Given the description of an element on the screen output the (x, y) to click on. 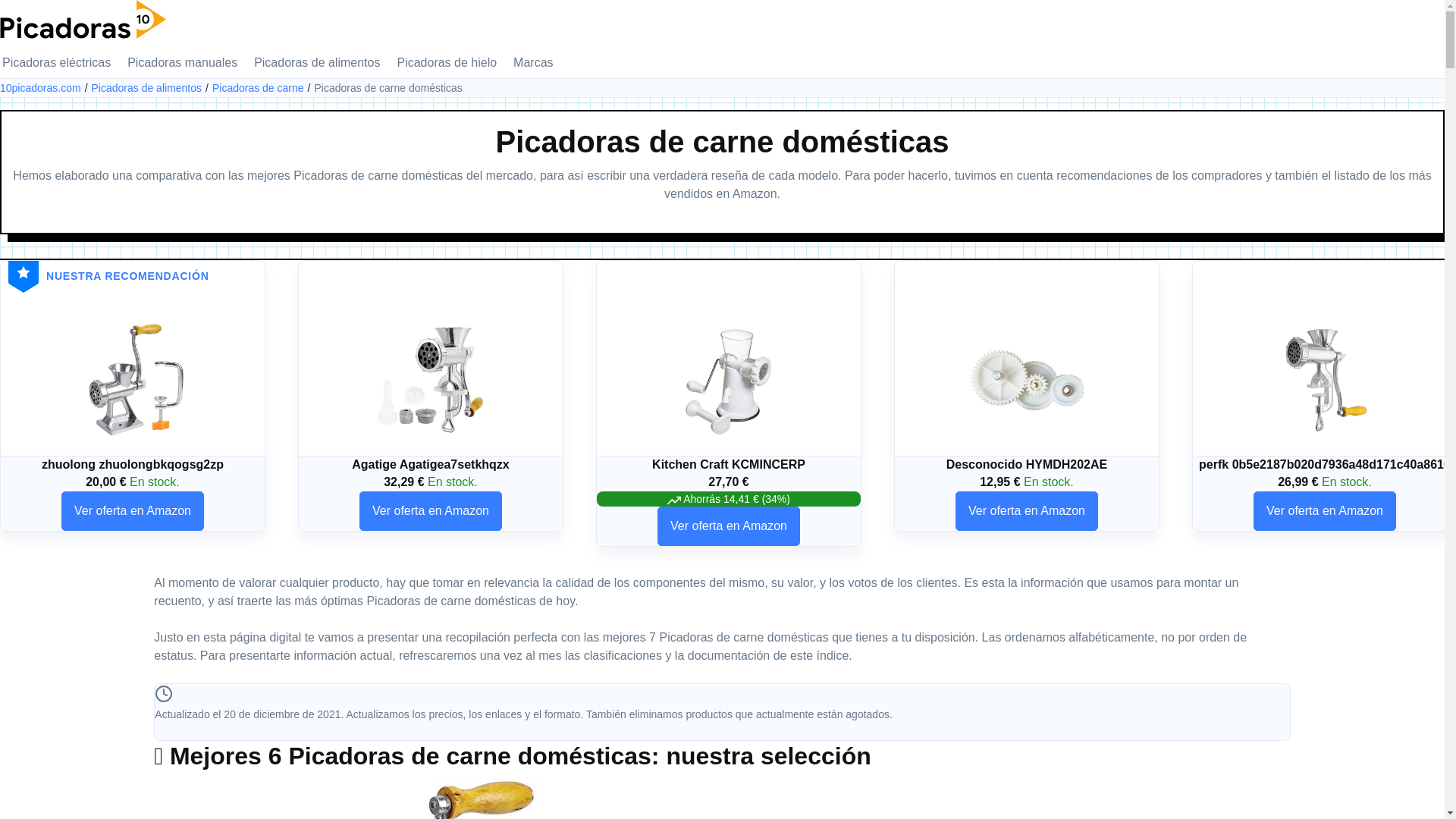
zhuolong zhuolongbkqogsg2zp Element type: text (132, 464)
Kitchen Craft KCMINCERP Element type: hover (728, 379)
Picadoras de hielo Element type: text (446, 62)
Picadoras de alimentos Element type: text (316, 62)
zhuolong zhuolongbkqogsg2zp Element type: hover (132, 379)
Agatige Agatigea7setkhqzx Element type: hover (430, 379)
Picadoras manuales Element type: text (182, 62)
perfk 0b5e2187b020d7936a48d171c40a8610 Element type: hover (1324, 379)
Marcas Element type: text (533, 62)
10picadoras.com Element type: text (45, 87)
Ver oferta en Amazon Element type: text (1324, 510)
zhuolong zhuolongbkqogsg2zp Element type: hover (132, 379)
Agatige Agatigea7setkhqzx Element type: hover (430, 379)
Ver oferta en Amazon Element type: text (132, 510)
Ver oferta en Amazon Element type: text (728, 526)
Agatige Agatigea7setkhqzx Element type: text (430, 464)
Ver oferta en Amazon Element type: text (430, 510)
Picadoras de carne Element type: text (263, 87)
Volver al inicio Element type: hover (83, 18)
Desconocido HYMDH202AE Element type: text (1026, 464)
Picadoras de alimentos Element type: text (151, 87)
Kitchen Craft KCMINCERP Element type: text (728, 464)
Kitchen Craft KCMINCERP Element type: hover (728, 379)
Desconocido HYMDH202AE Element type: hover (1026, 379)
Ver oferta en Amazon Element type: text (1026, 510)
Desconocido HYMDH202AE Element type: hover (1026, 379)
